Given the description of an element on the screen output the (x, y) to click on. 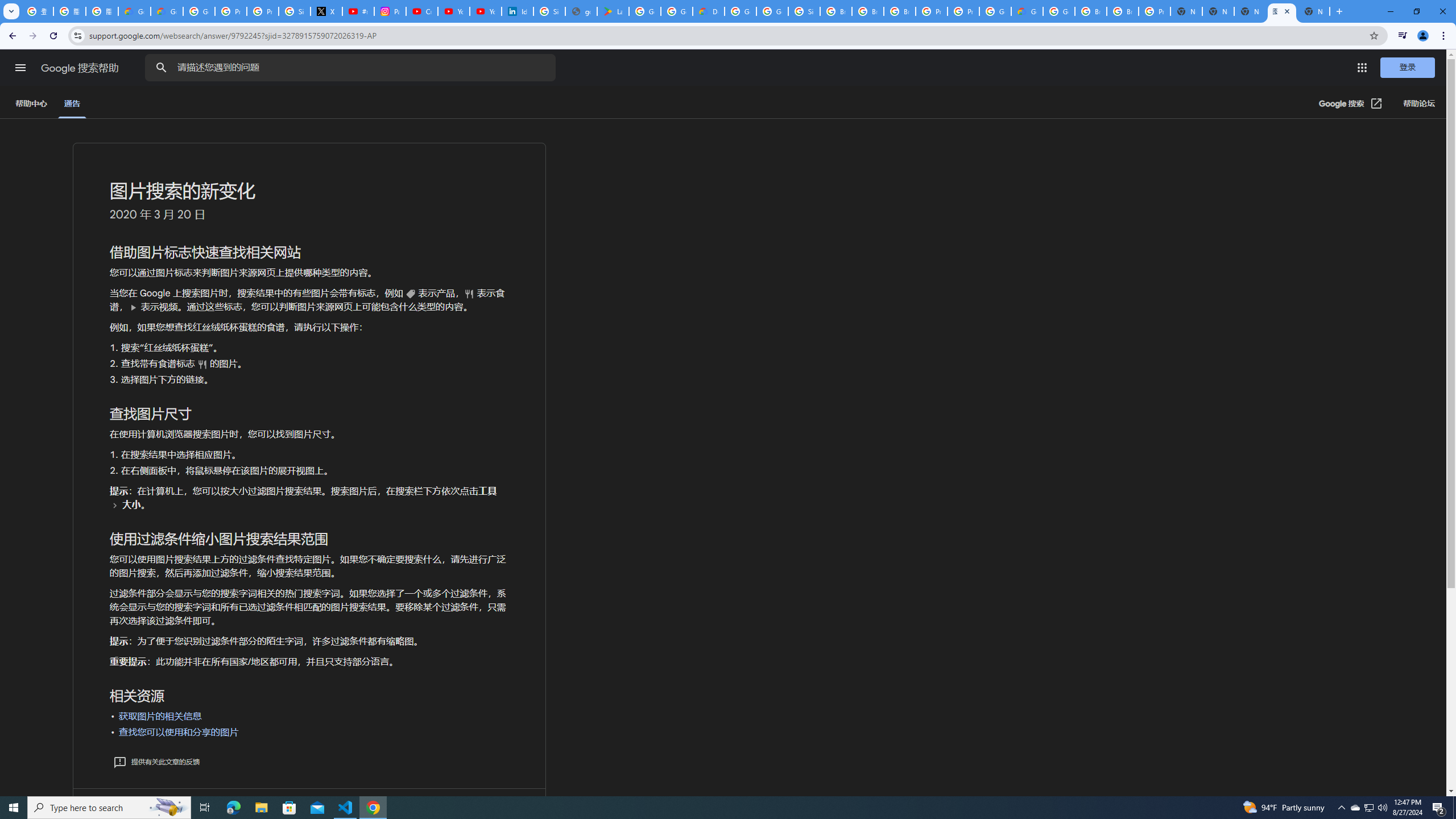
#nbabasketballhighlights - YouTube (358, 11)
YouTube Culture & Trends - YouTube Top 10, 2021 (485, 11)
